Given the description of an element on the screen output the (x, y) to click on. 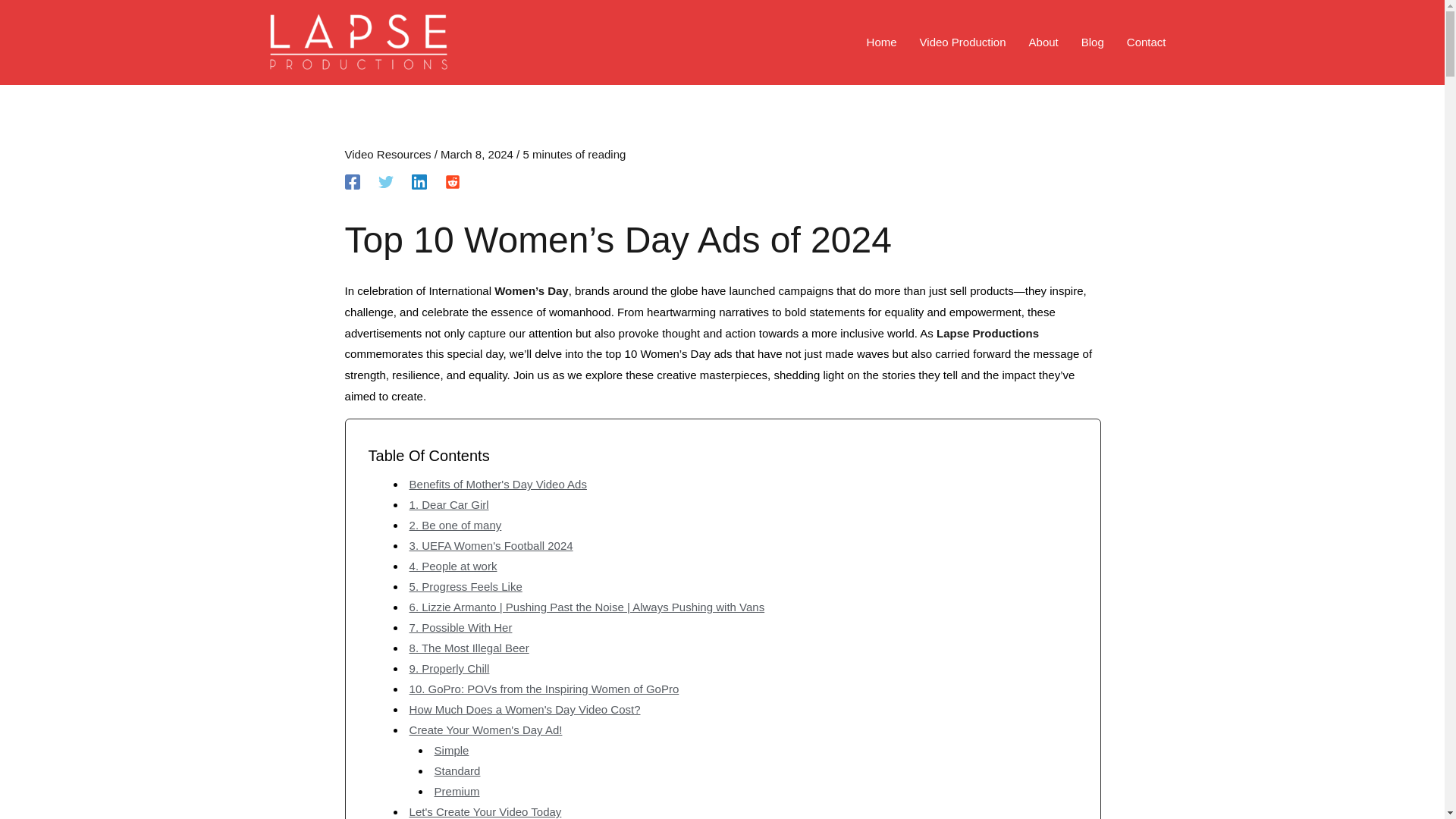
7. Possible With Her (460, 626)
4. People at work (453, 565)
1. Dear Car Girl (449, 504)
Create Your Women's Day Ad! (485, 729)
Lapse Productions (987, 332)
Let's Create Your Video Today (485, 811)
Premium (456, 790)
3. UEFA Women's Football 2024 (491, 545)
10. GoPro: POVs from the Inspiring Women of GoPro (544, 688)
Standard (456, 770)
